Given the description of an element on the screen output the (x, y) to click on. 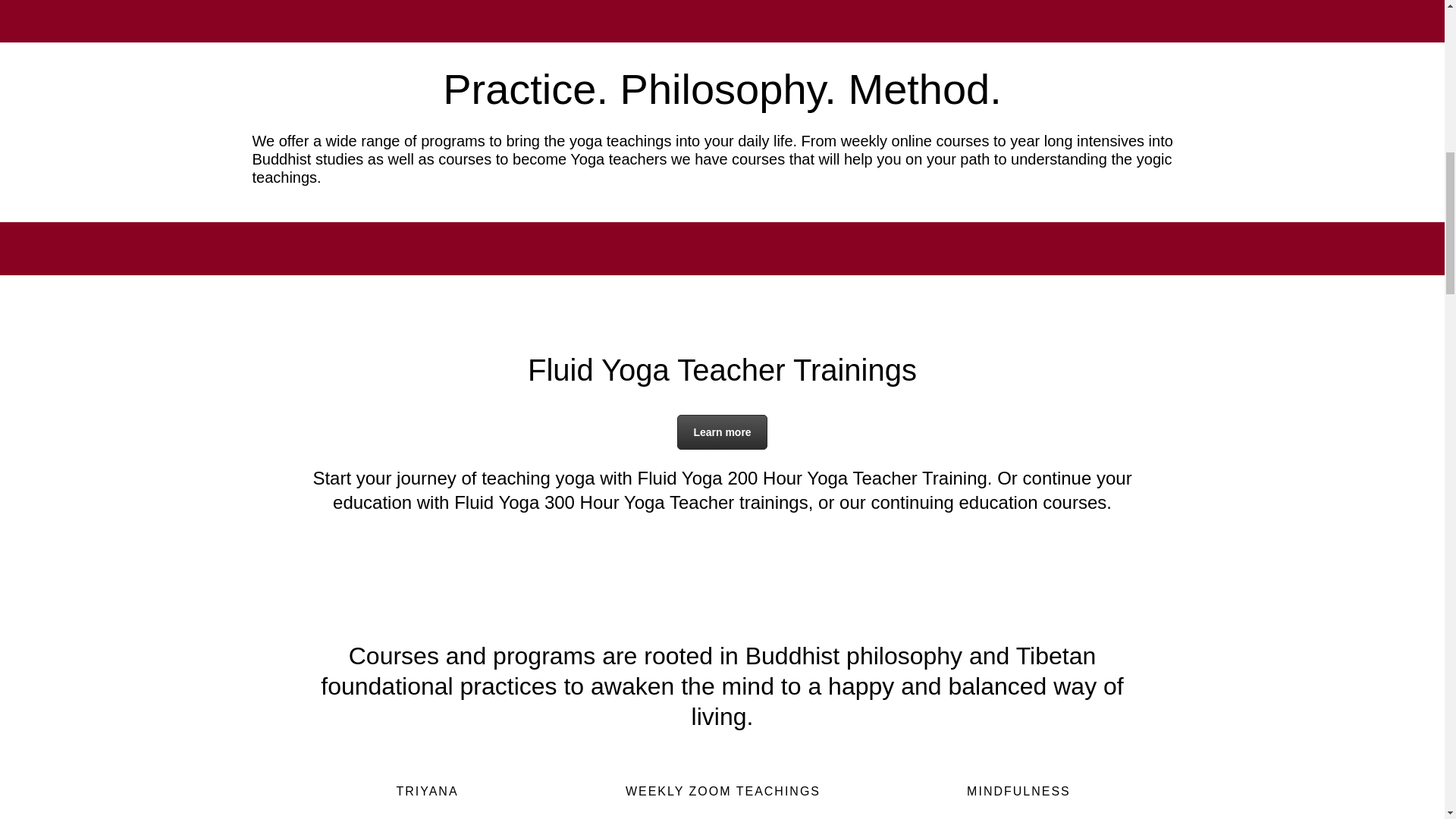
Fluid Yoga (722, 431)
MINDFULNESS (1017, 800)
WEEKLY ZOOM TEACHINGS (722, 800)
TRIYANA (425, 800)
Learn more (722, 431)
